Given the description of an element on the screen output the (x, y) to click on. 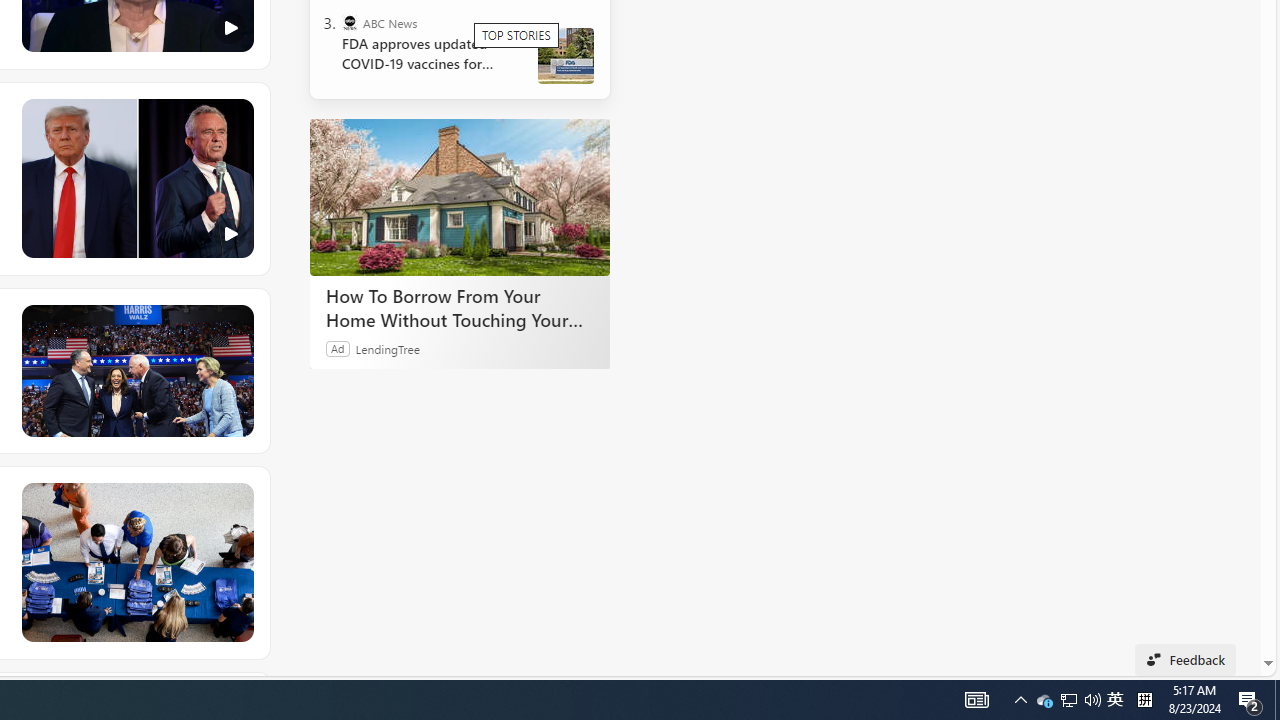
ABC News (349, 22)
Class: hero-image (136, 179)
